Given the description of an element on the screen output the (x, y) to click on. 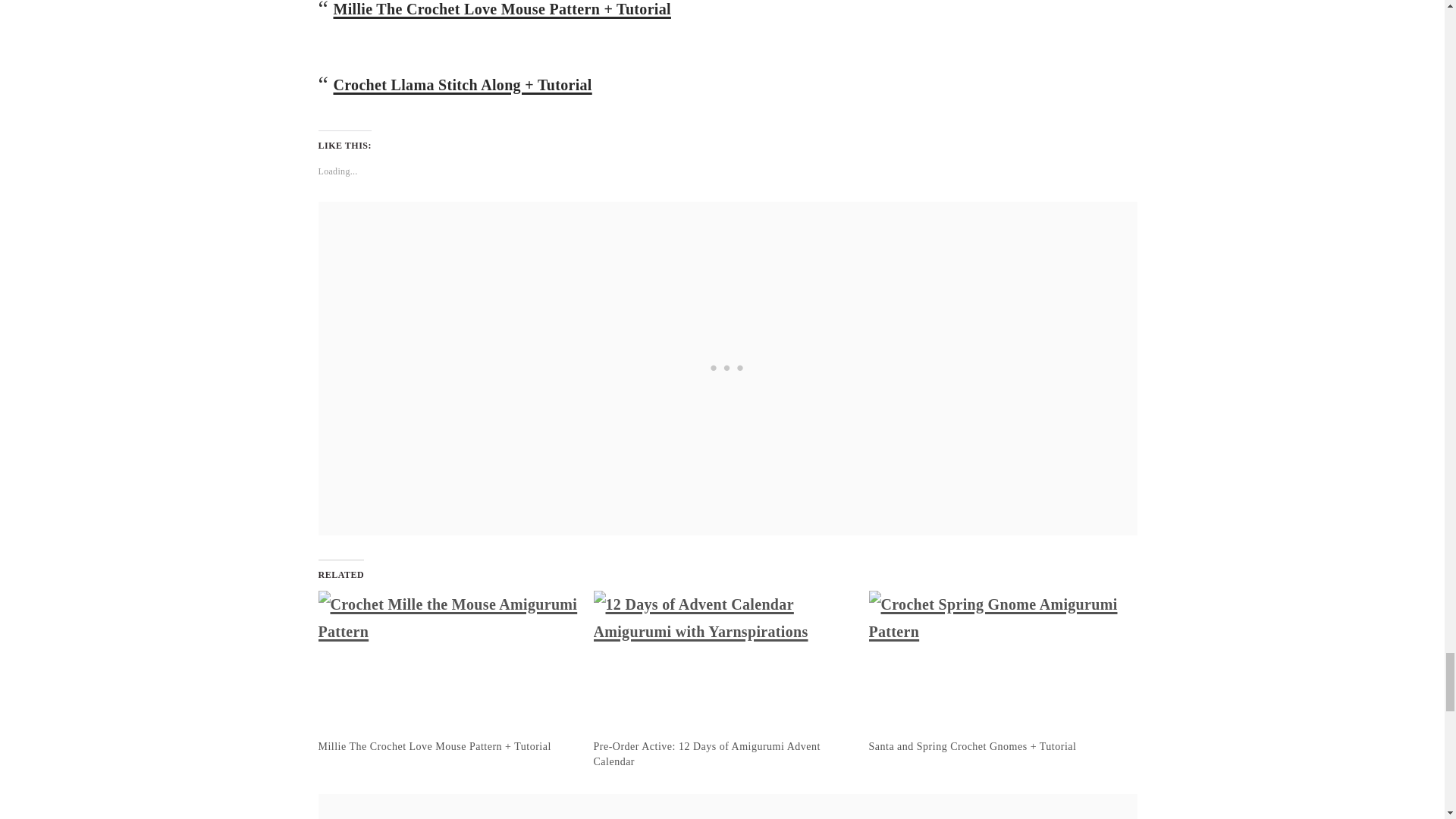
Pre-Order Active: 12 Days of Amigurumi Advent Calendar (705, 754)
